Given the description of an element on the screen output the (x, y) to click on. 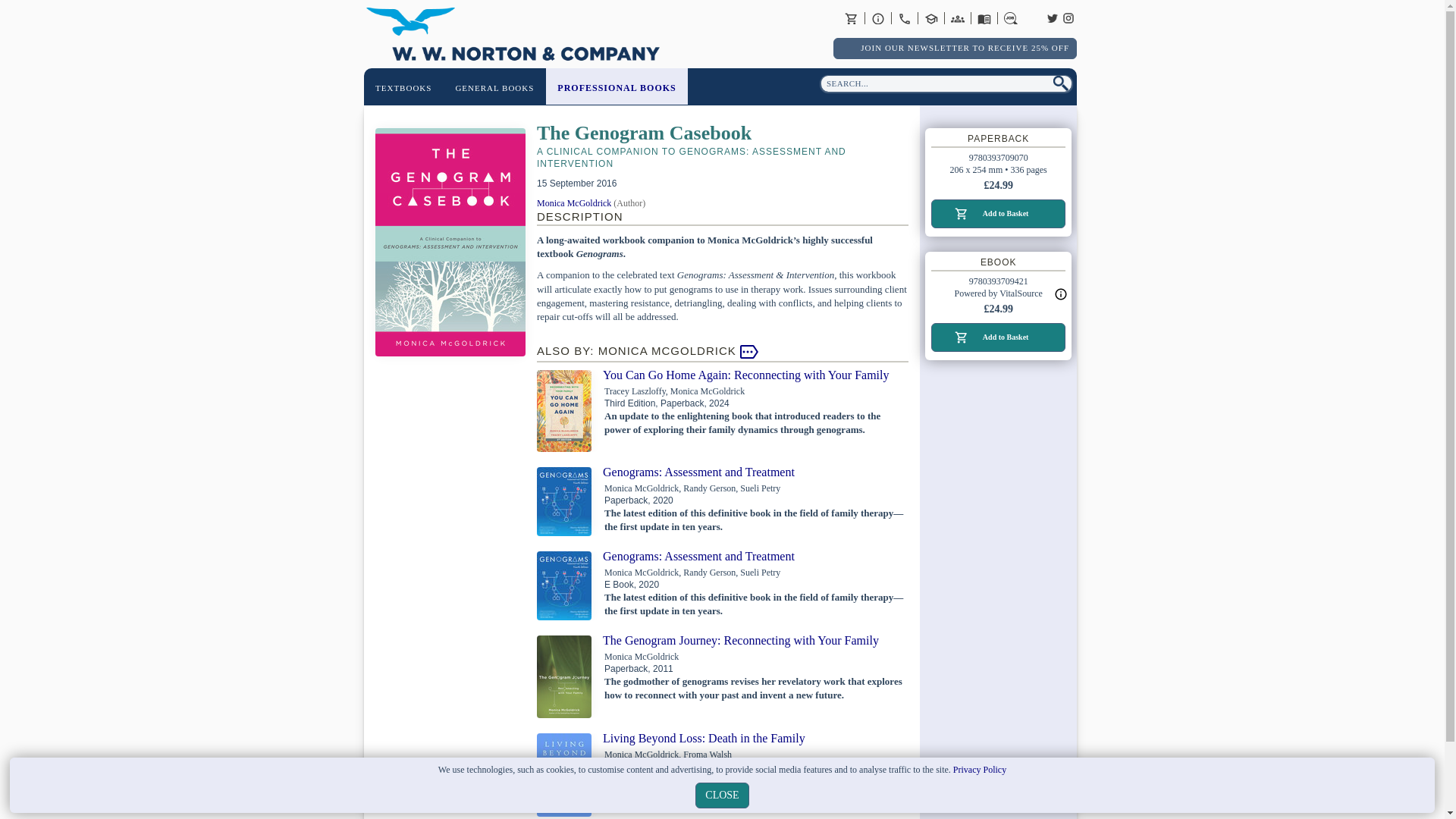
Go to shopping cart (851, 18)
Contact your Norton Academic Consultant (930, 18)
Catalogues (983, 18)
CONTACT (904, 18)
W.W. Norton UK on Twitter (1052, 17)
About (877, 18)
INTERNATIONAL TRADE SALES AGENTS (956, 18)
International Trade Sales Agents (956, 18)
Contact (904, 18)
CATALOGUES (983, 18)
ABOUT (877, 18)
BASKET (851, 18)
Careers (1010, 18)
CONTACT YOUR NORTON ACADEMIC CONSULTANT (930, 18)
CAREERS (1010, 18)
